Given the description of an element on the screen output the (x, y) to click on. 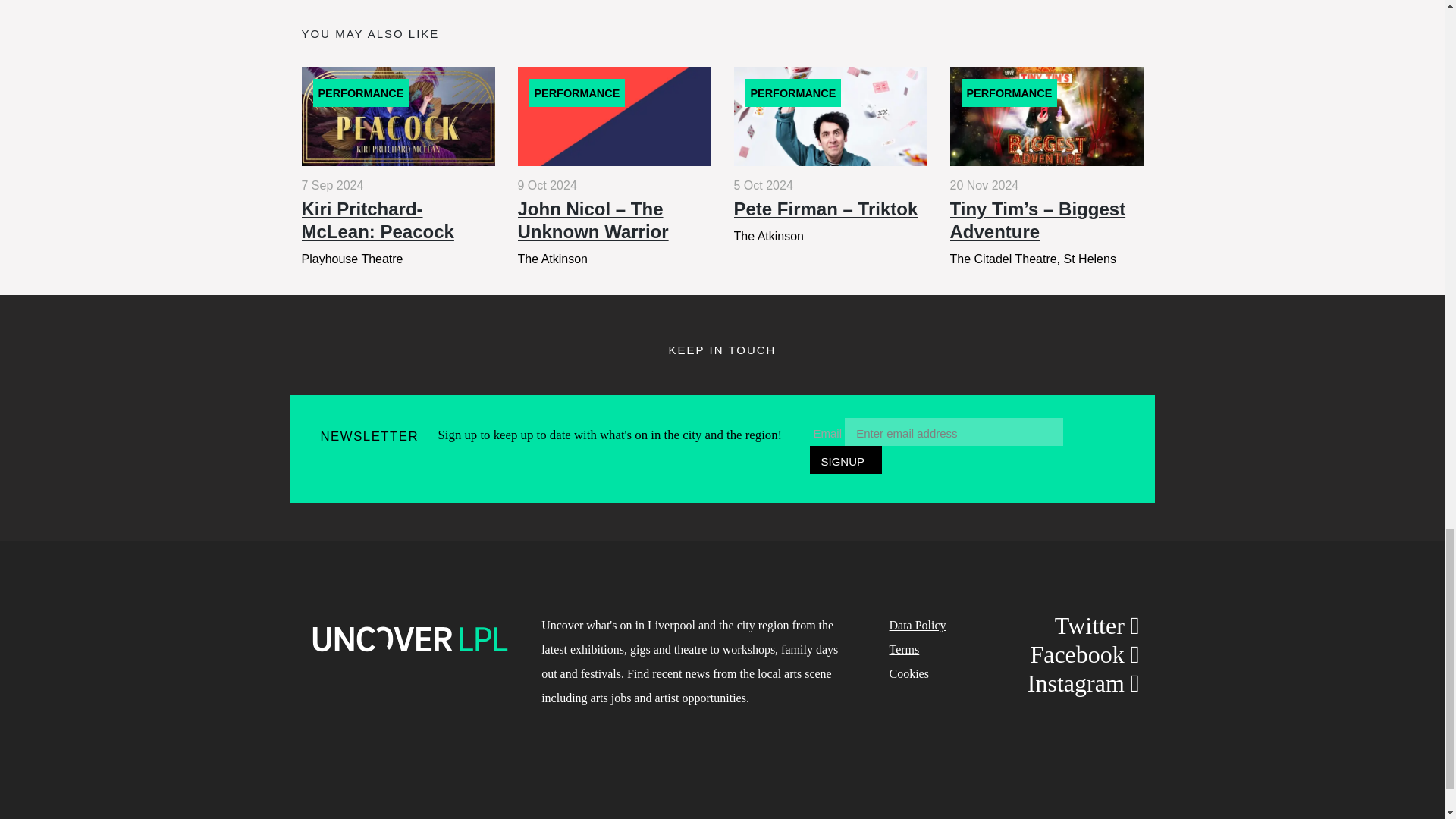
Signup (845, 459)
Kiri Pritchard-McLean: Peacock (398, 165)
Signup (845, 459)
Data Policy (916, 625)
Tiny Tim's - Biggest Adventure (1045, 165)
